Given the description of an element on the screen output the (x, y) to click on. 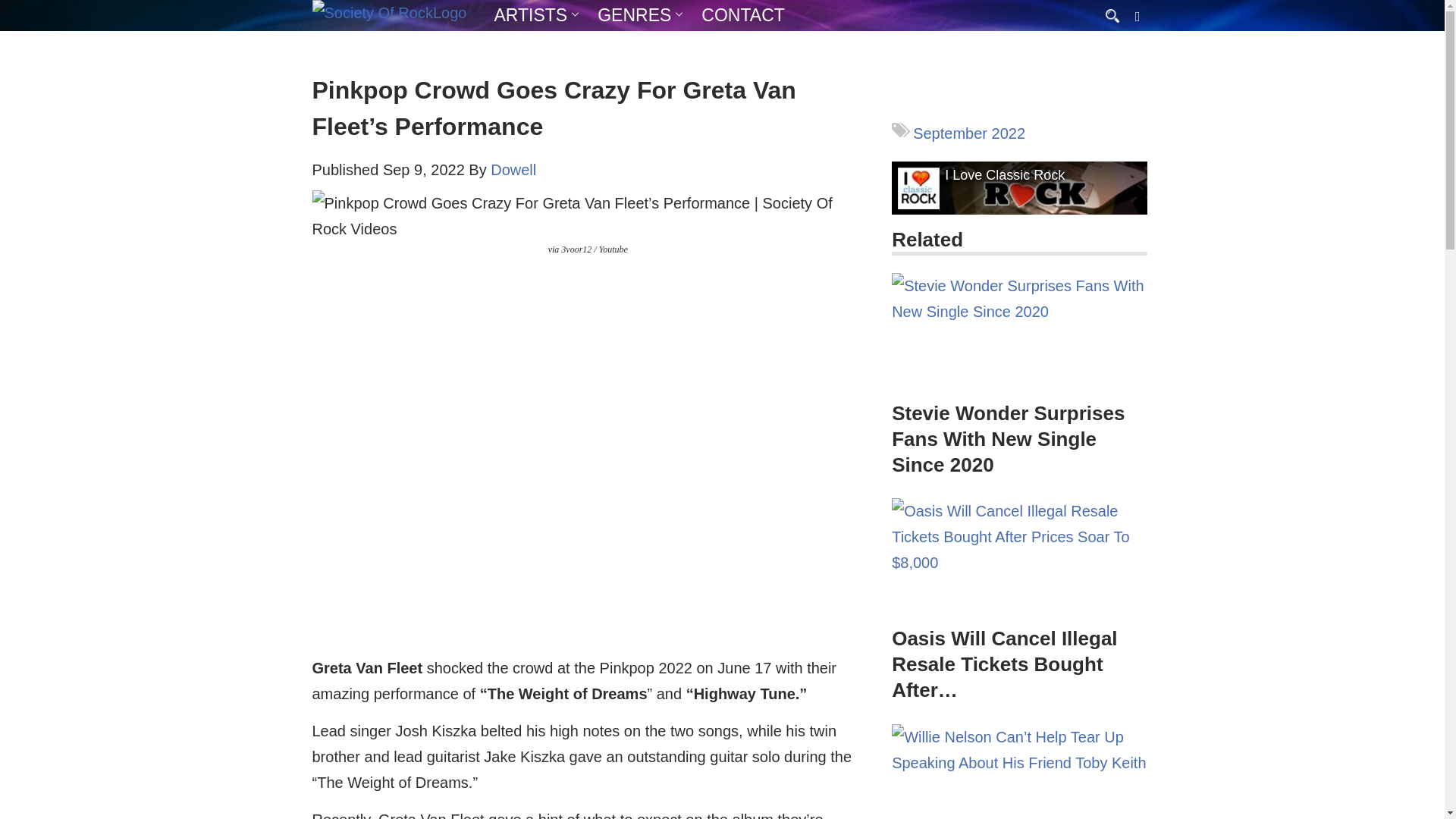
Search (15, 6)
ARTISTS (531, 15)
Stevie Wonder Surprises Fans With New Single Since 2020 (1007, 438)
GENRES (633, 15)
I Love Classic Rock (1004, 175)
ABOUT (577, 45)
Stevie Wonder Surprises Fans With New Single Since 2020 (1019, 333)
Stevie Wonder Surprises Fans With New Single Since 2020 (1019, 363)
CONTACT (742, 15)
